Given the description of an element on the screen output the (x, y) to click on. 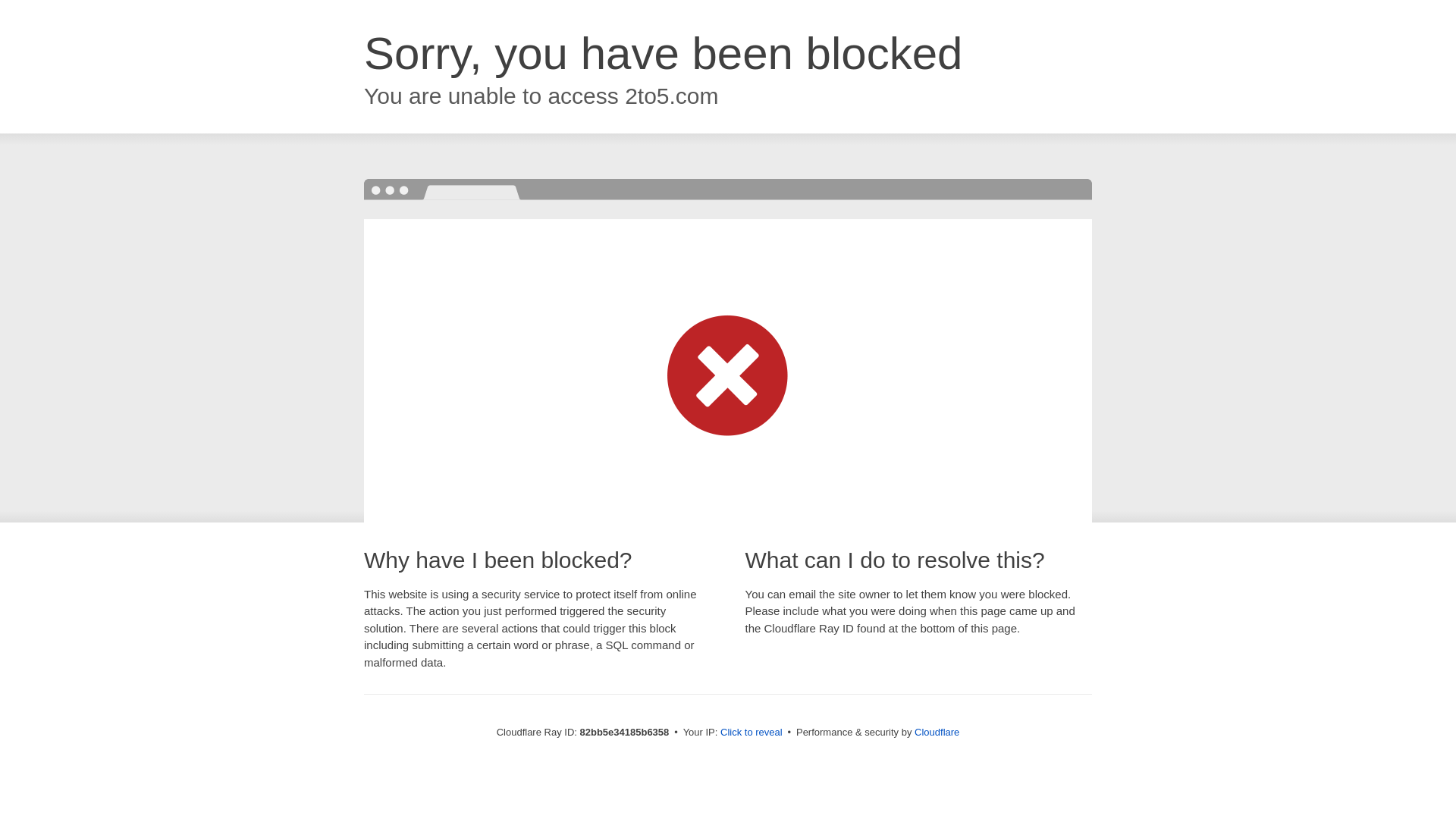
Cloudflare Element type: text (936, 731)
Click to reveal Element type: text (751, 732)
